Given the description of an element on the screen output the (x, y) to click on. 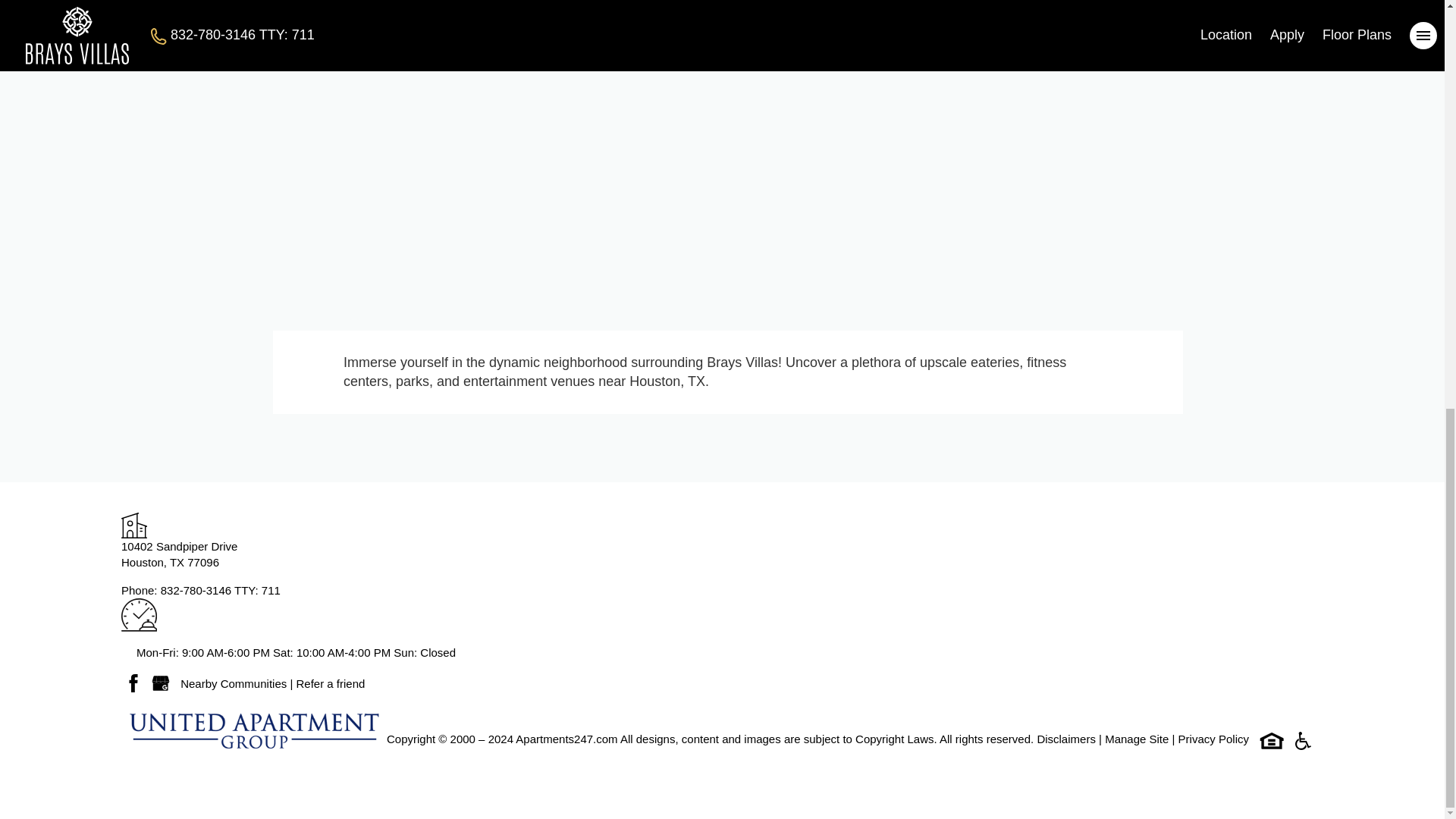
United Apartment Group (253, 729)
Edit Webiste Content (178, 553)
Refer a friend (1137, 738)
Disclaimers (330, 683)
Nearby Communities (1067, 738)
Apartments247.com (233, 683)
Manage Site (566, 738)
832-780-3146 TTY: 711 (1137, 738)
